Given the description of an element on the screen output the (x, y) to click on. 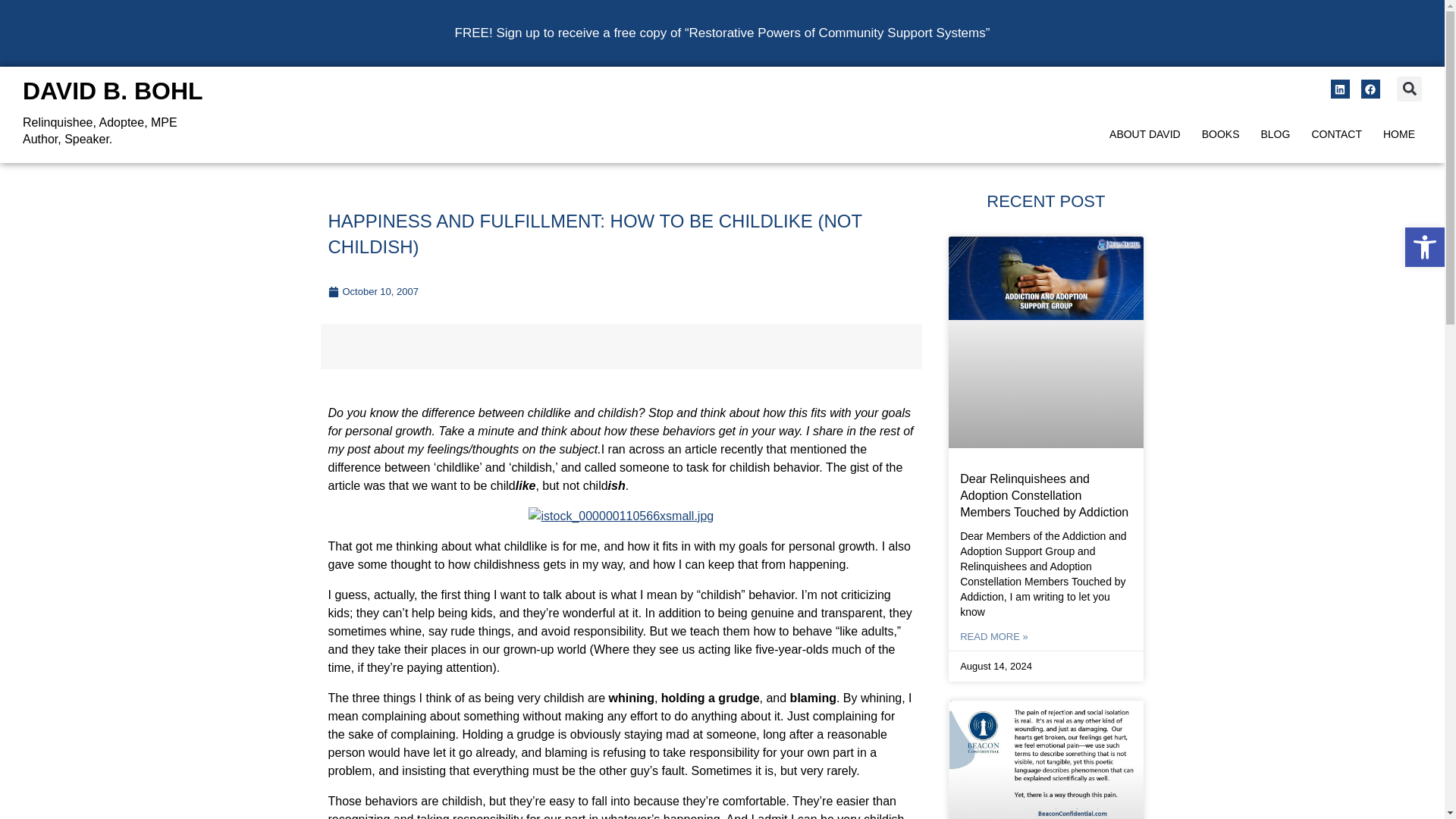
DAVID B. BOHL (1424, 246)
BOOKS (113, 90)
ABOUT DAVID (1220, 134)
BLOG (1145, 134)
Accessibility Tools (1275, 134)
October 10, 2007 (1424, 247)
HOME (372, 291)
Accessibility Tools (1398, 134)
CONTACT (1424, 246)
